Given the description of an element on the screen output the (x, y) to click on. 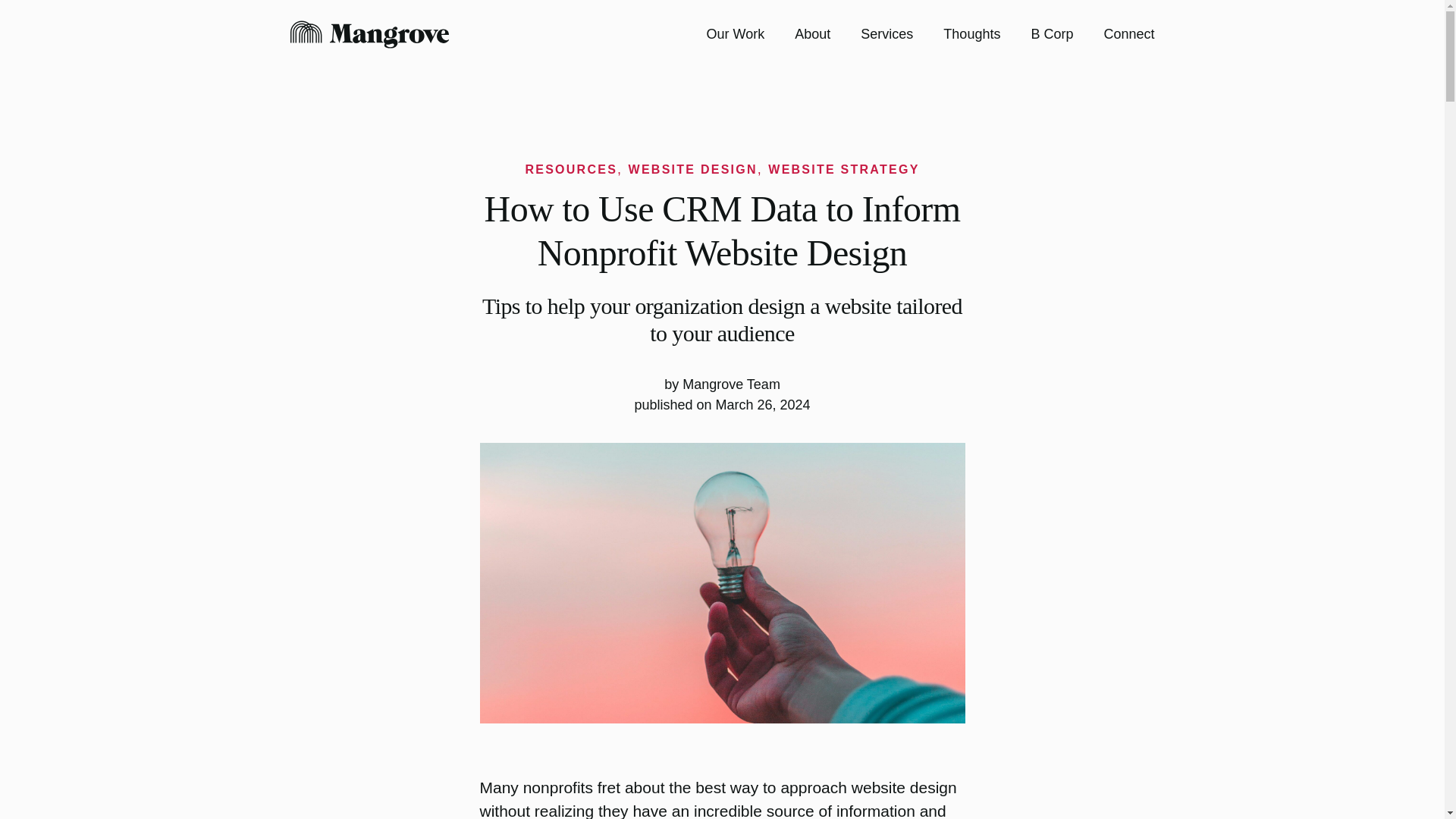
B Corp (1051, 32)
WEBSITE DESIGN (692, 169)
WEBSITE STRATEGY (843, 169)
Our Work (735, 32)
RESOURCES (570, 169)
Connect (1128, 32)
Thoughts (971, 32)
Services (886, 32)
About (811, 32)
